Given the description of an element on the screen output the (x, y) to click on. 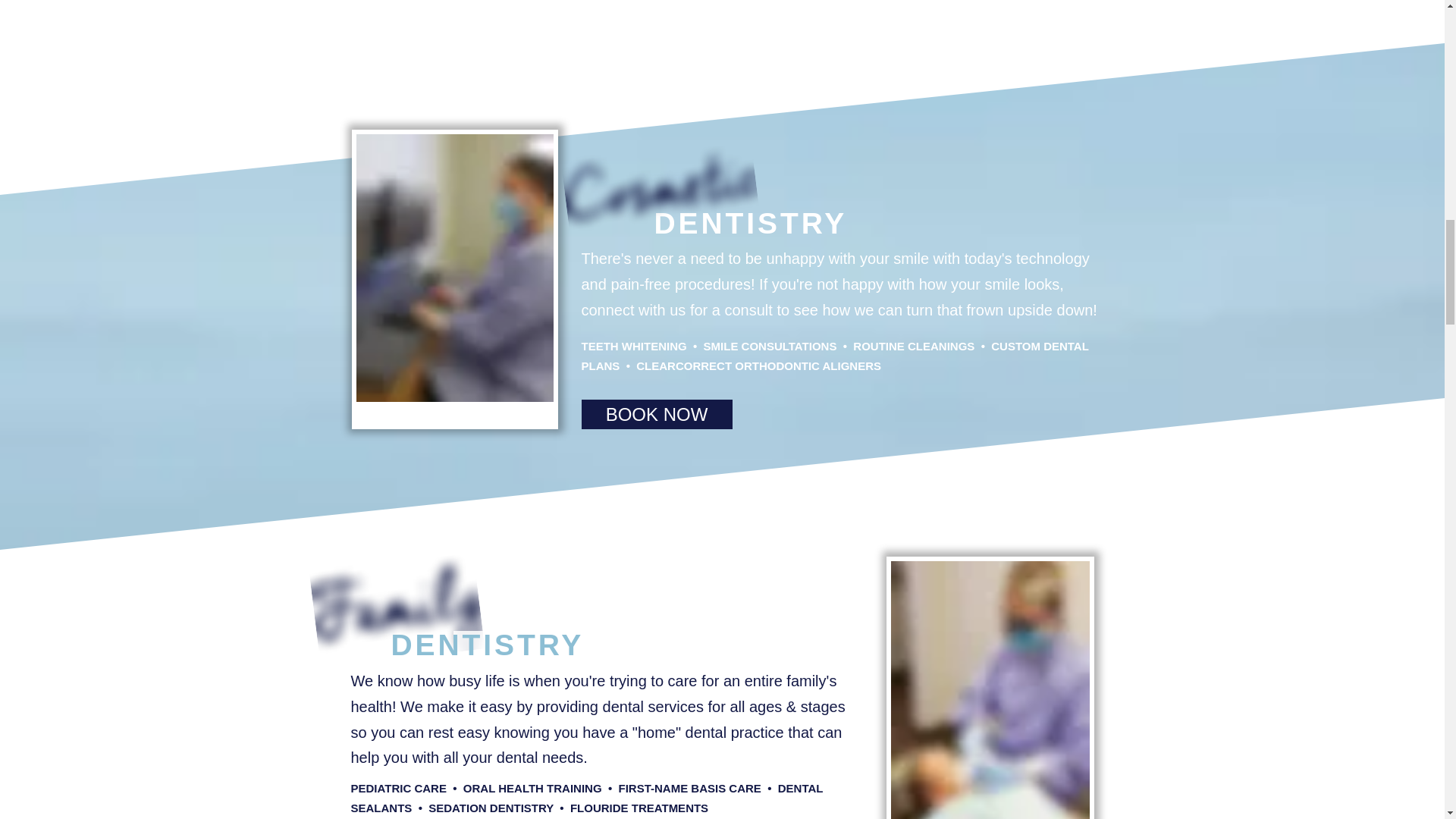
Cosmetic TEXT.png (655, 176)
Family TEXT.png (390, 596)
BOOK NOW (656, 414)
